Given the description of an element on the screen output the (x, y) to click on. 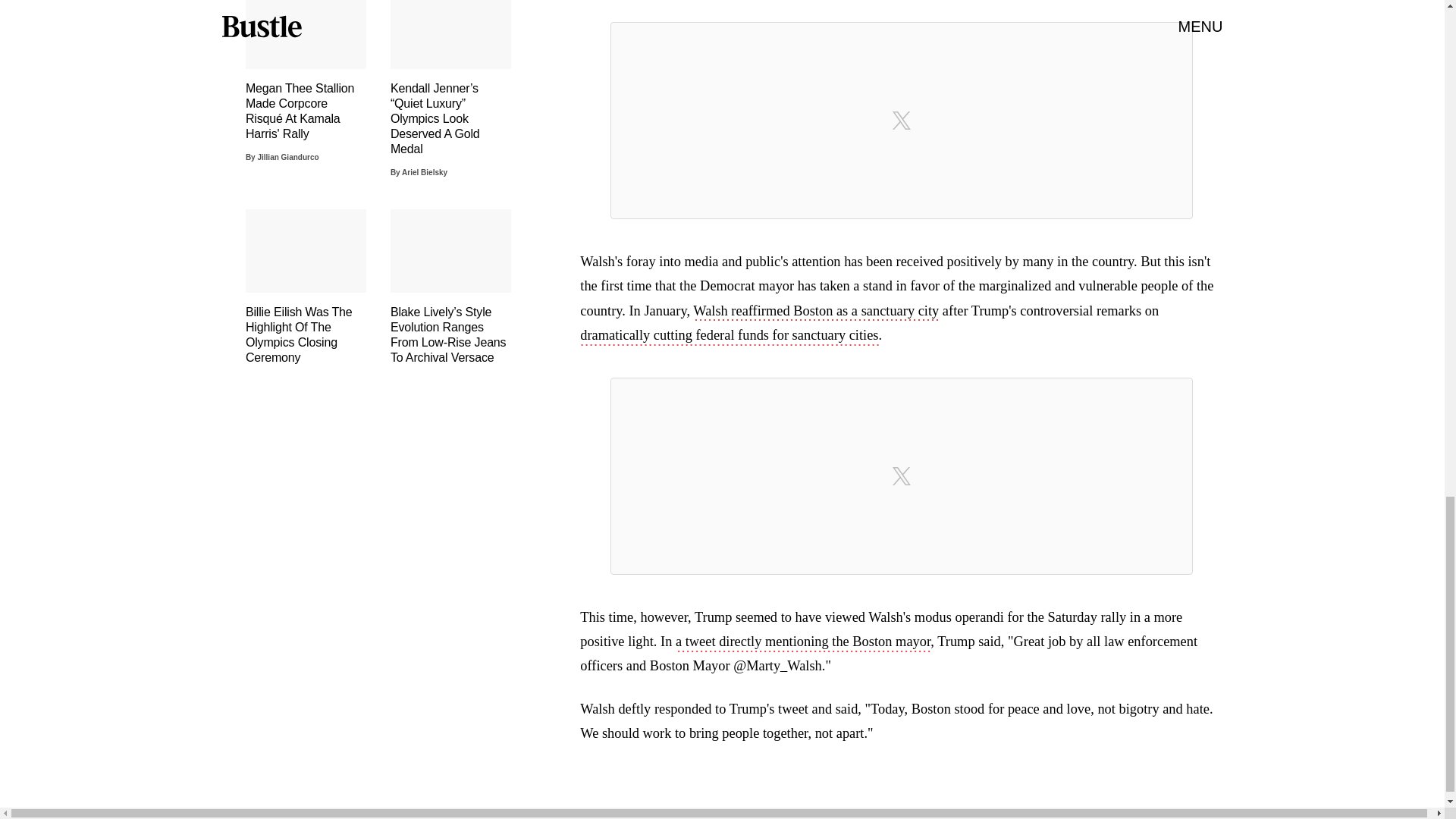
a tweet directly mentioning the Boston mayor (802, 642)
dramatically cutting federal funds for sanctuary cities (728, 336)
Walsh reaffirmed Boston as a sanctuary city (816, 312)
